Given the description of an element on the screen output the (x, y) to click on. 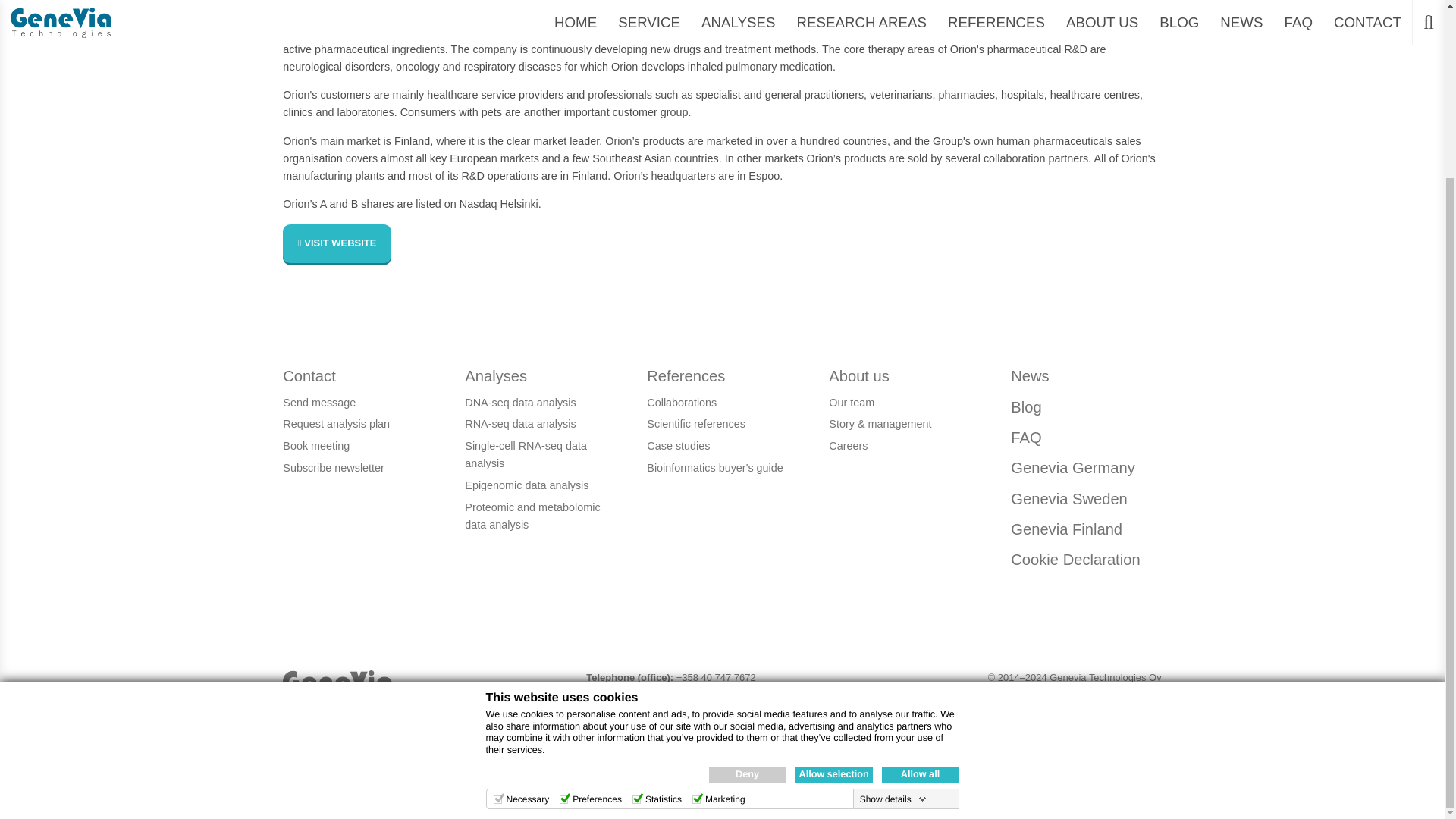
Allow all (919, 557)
Allow selection (833, 557)
Show details (893, 582)
Deny (746, 557)
